Given the description of an element on the screen output the (x, y) to click on. 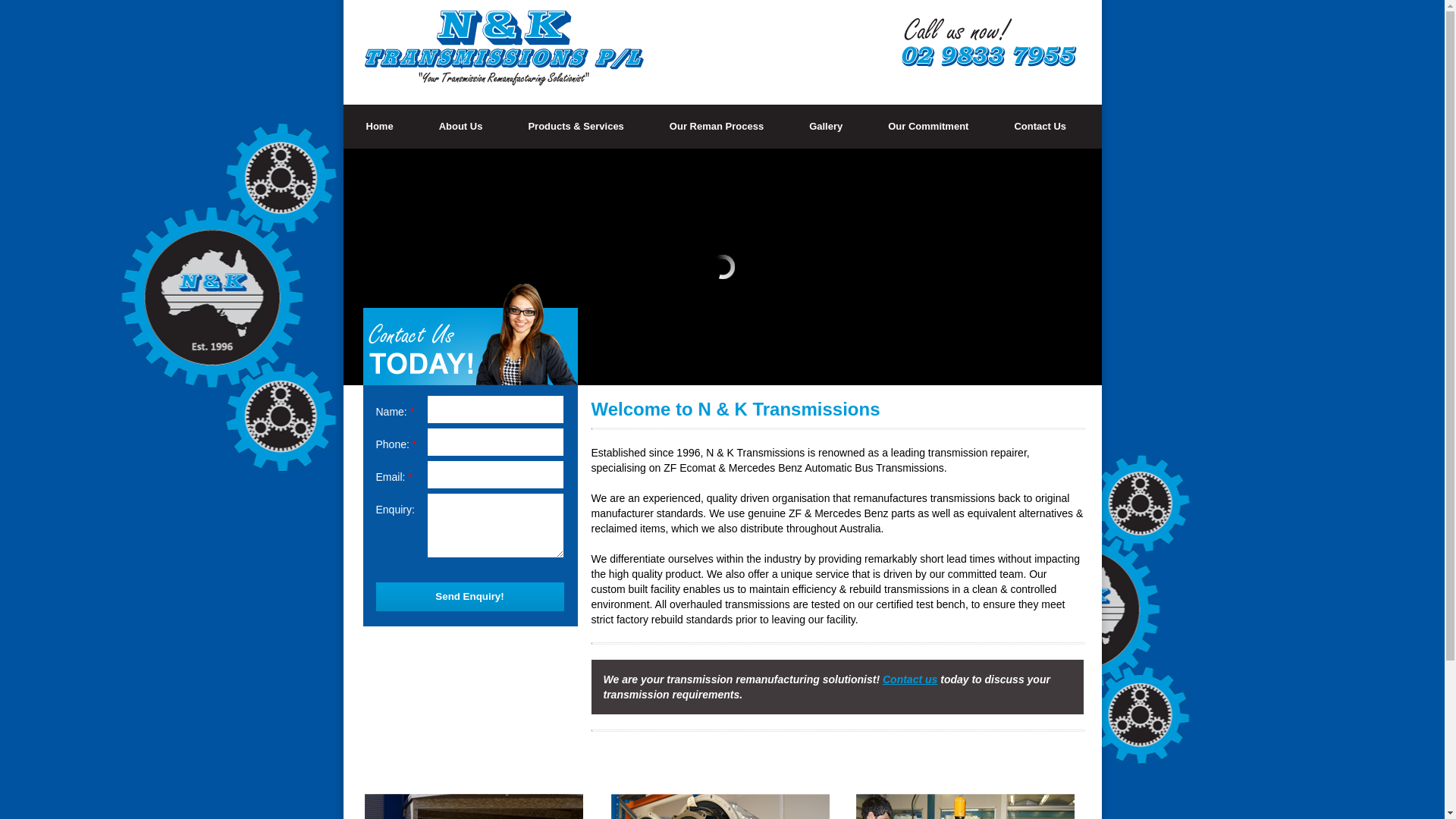
About Us Element type: text (460, 126)
Send Enquiry! Element type: text (470, 596)
Our Reman Process Element type: text (716, 126)
Our Commitment Element type: text (928, 126)
Contact Us Element type: text (1039, 126)
Products & Services Element type: text (575, 126)
Gallery Element type: text (825, 126)
Contact us Element type: text (909, 679)
Home Element type: text (378, 126)
